Given the description of an element on the screen output the (x, y) to click on. 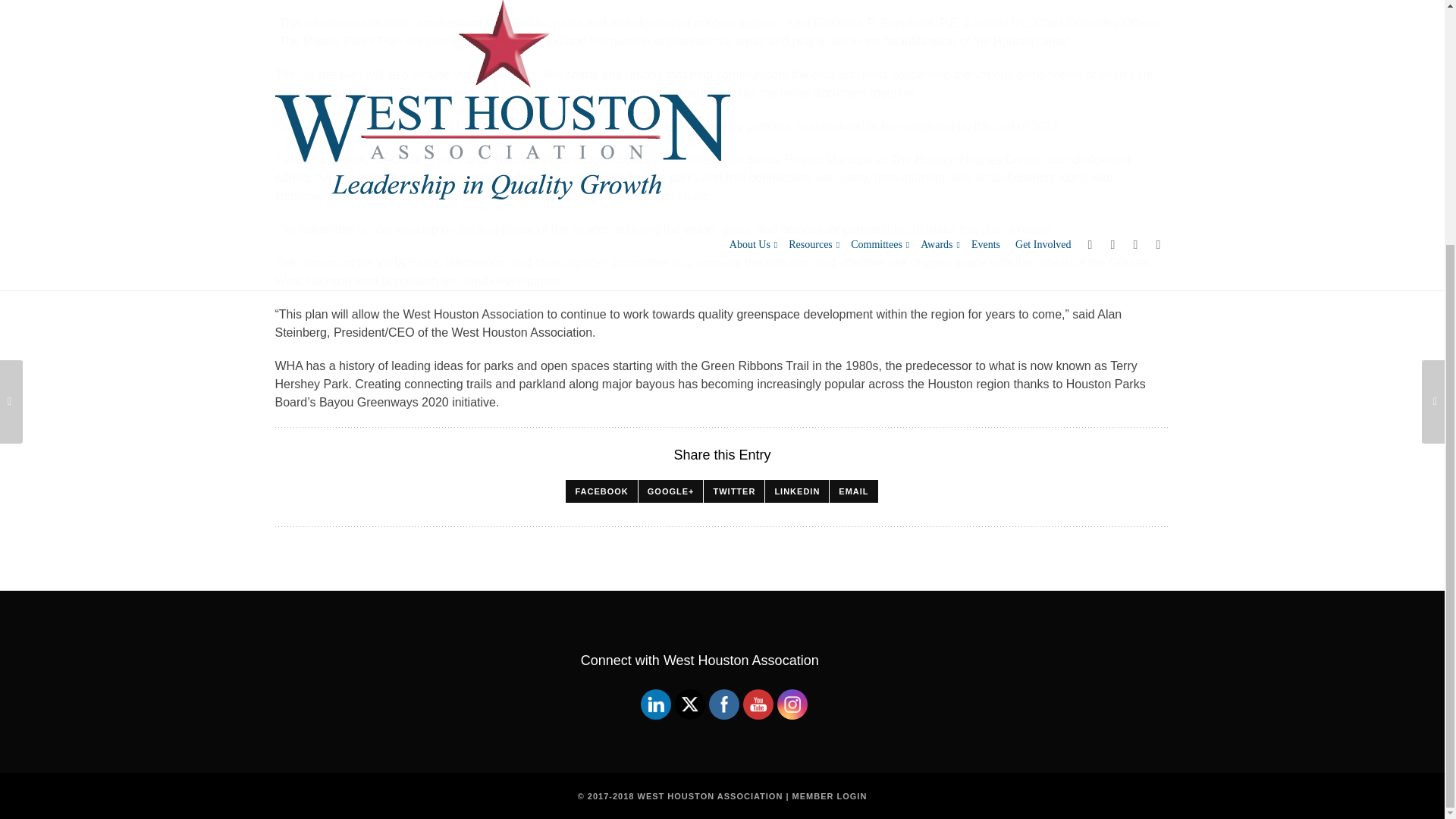
Share this Entry on Facebook (601, 490)
LinkedIn (655, 704)
Share this Entry on LinkedIn (796, 490)
Share this Entry via Email (853, 490)
Tweet this Entry on Twitter (733, 490)
